Given the description of an element on the screen output the (x, y) to click on. 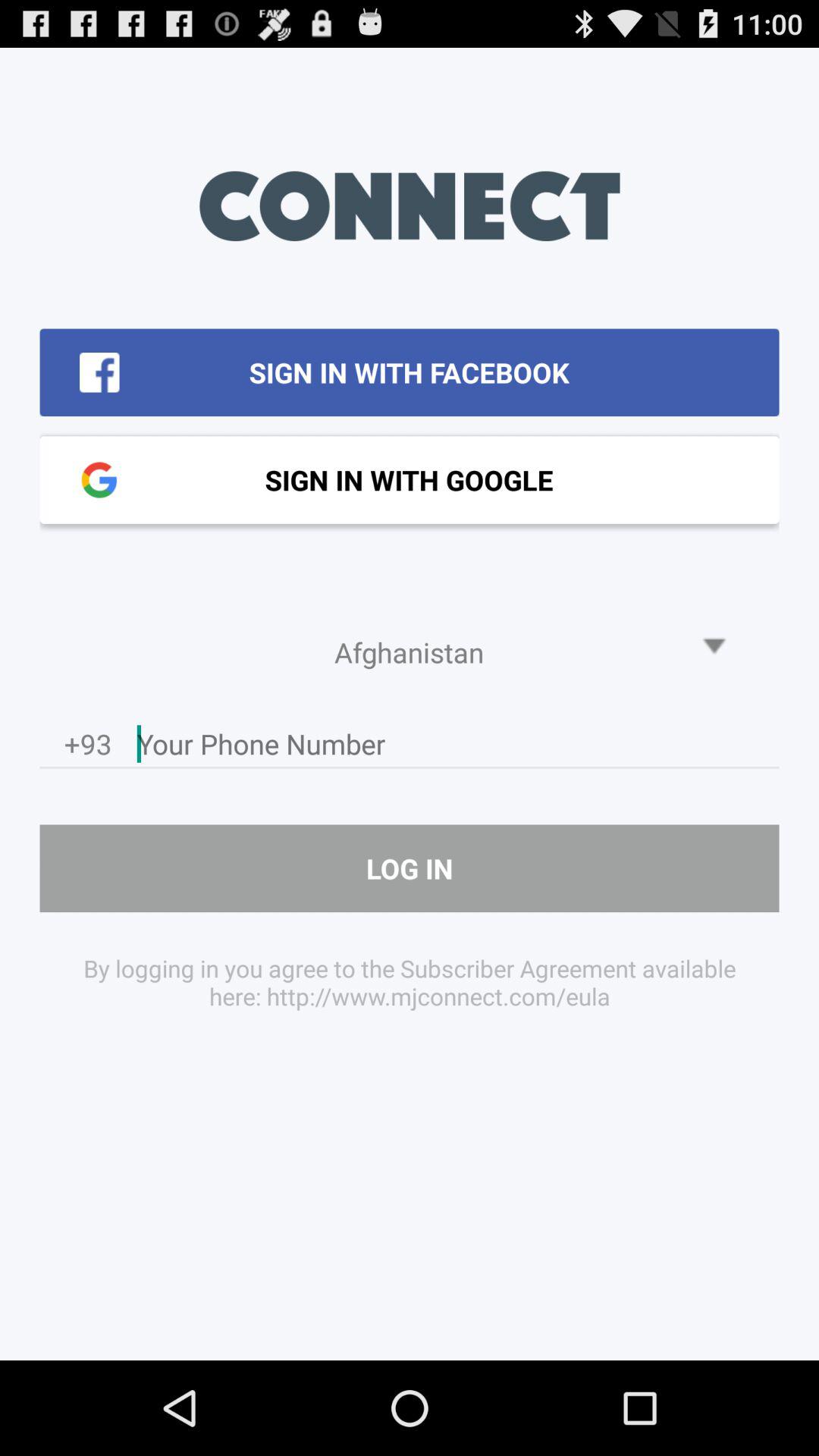
turn off log in (409, 868)
